Given the description of an element on the screen output the (x, y) to click on. 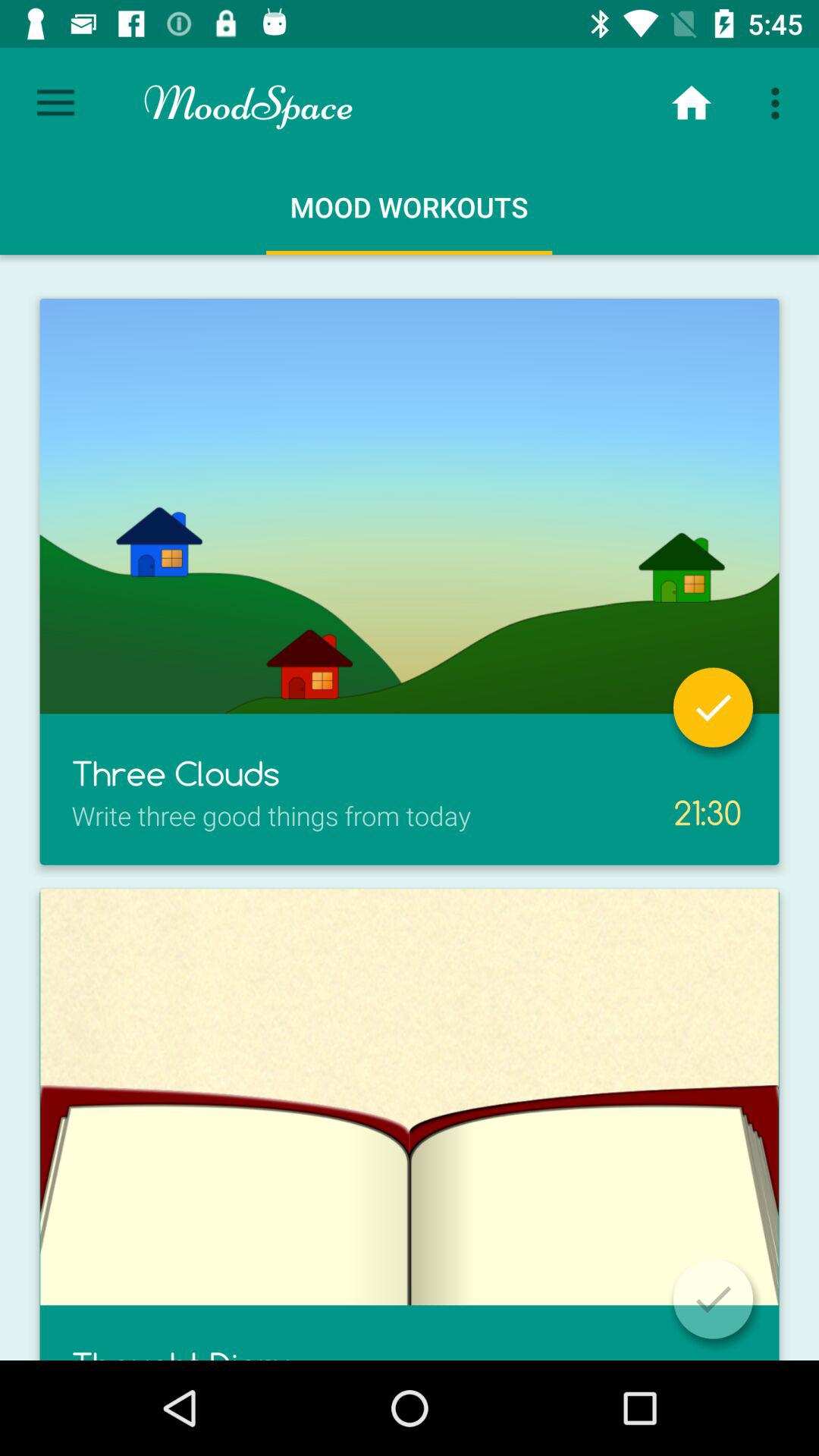
specific part is finished (713, 707)
